Given the description of an element on the screen output the (x, y) to click on. 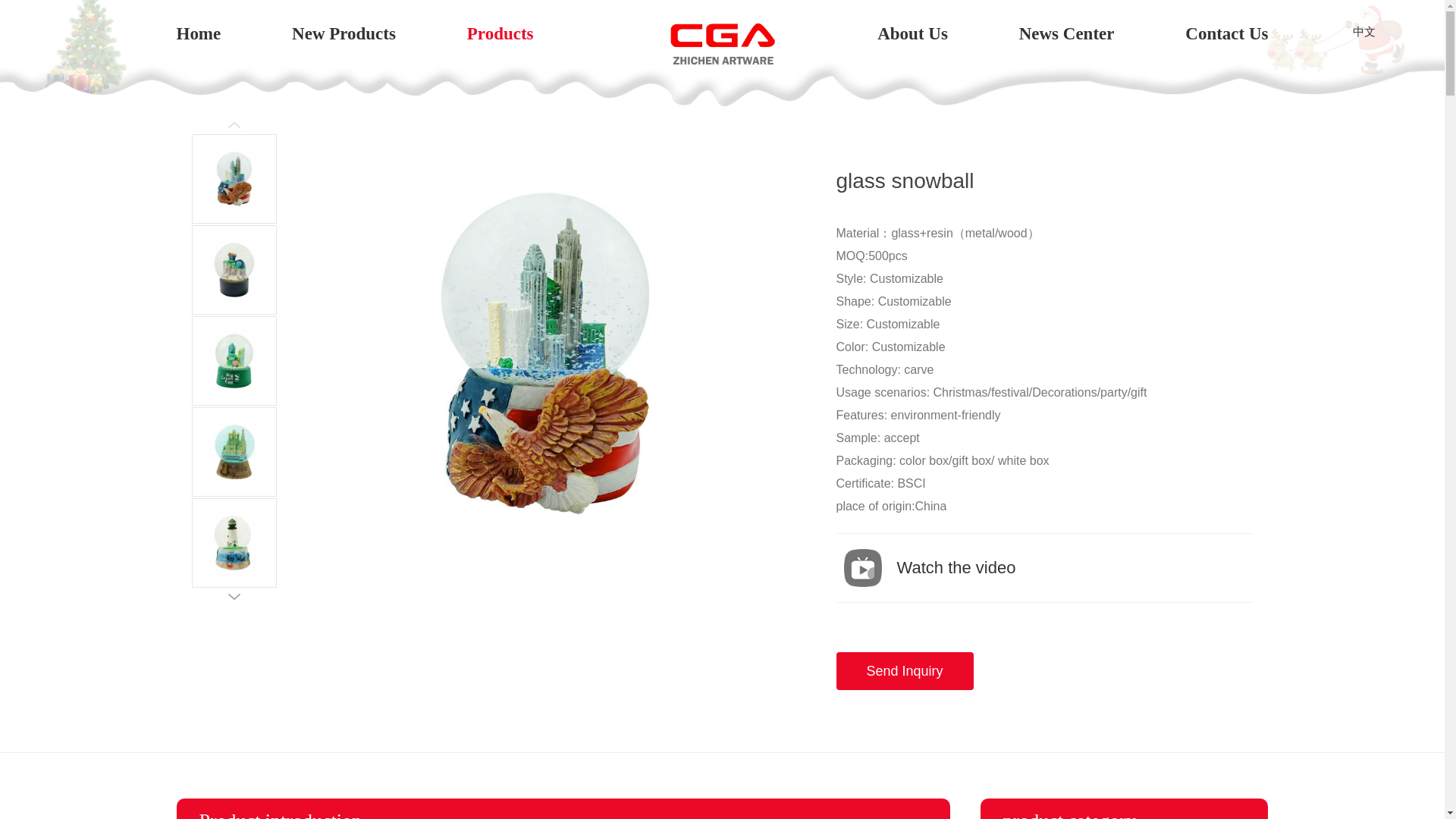
About Us (912, 33)
New Products (344, 33)
Products (500, 33)
Contact Us (1226, 33)
Send Inquiry (904, 670)
News Center (1067, 33)
Products (500, 33)
About Us (912, 33)
News Center (1067, 33)
Contact Us (1226, 33)
New Products (344, 33)
